Given the description of an element on the screen output the (x, y) to click on. 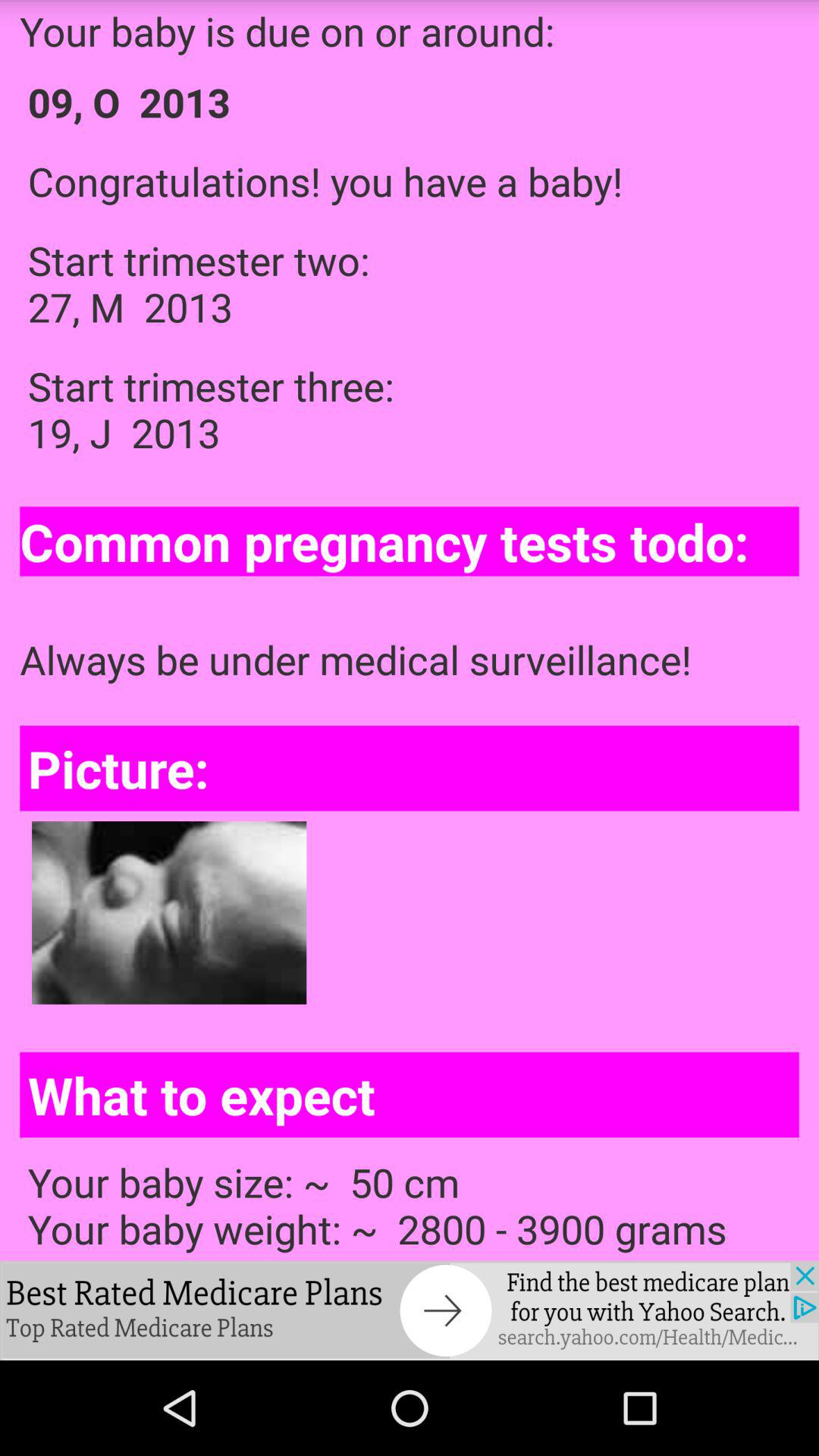
advertisement banner (409, 1310)
